Given the description of an element on the screen output the (x, y) to click on. 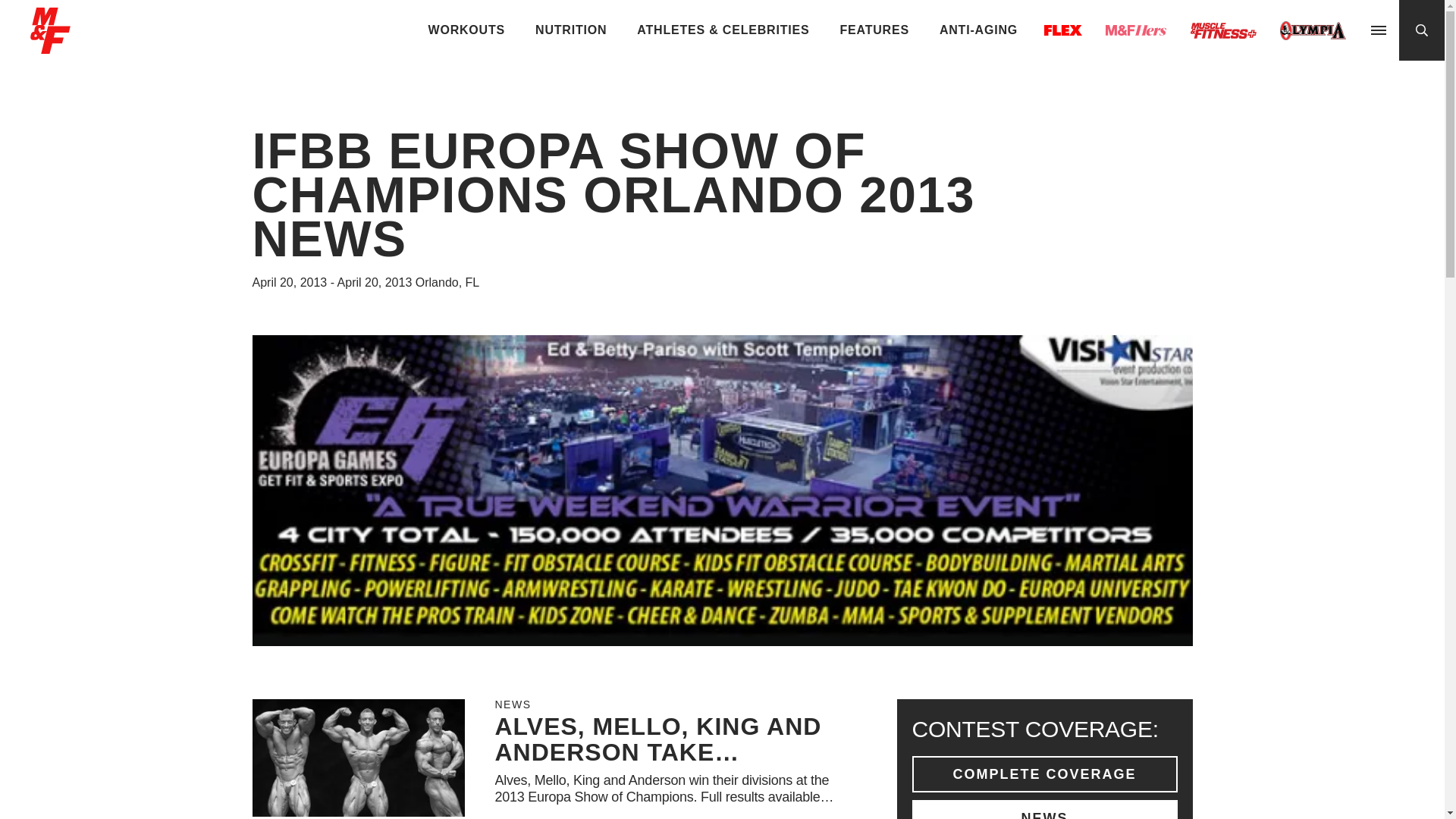
NUTRITION (570, 30)
Home (49, 47)
WORKOUTS (467, 30)
